Given the description of an element on the screen output the (x, y) to click on. 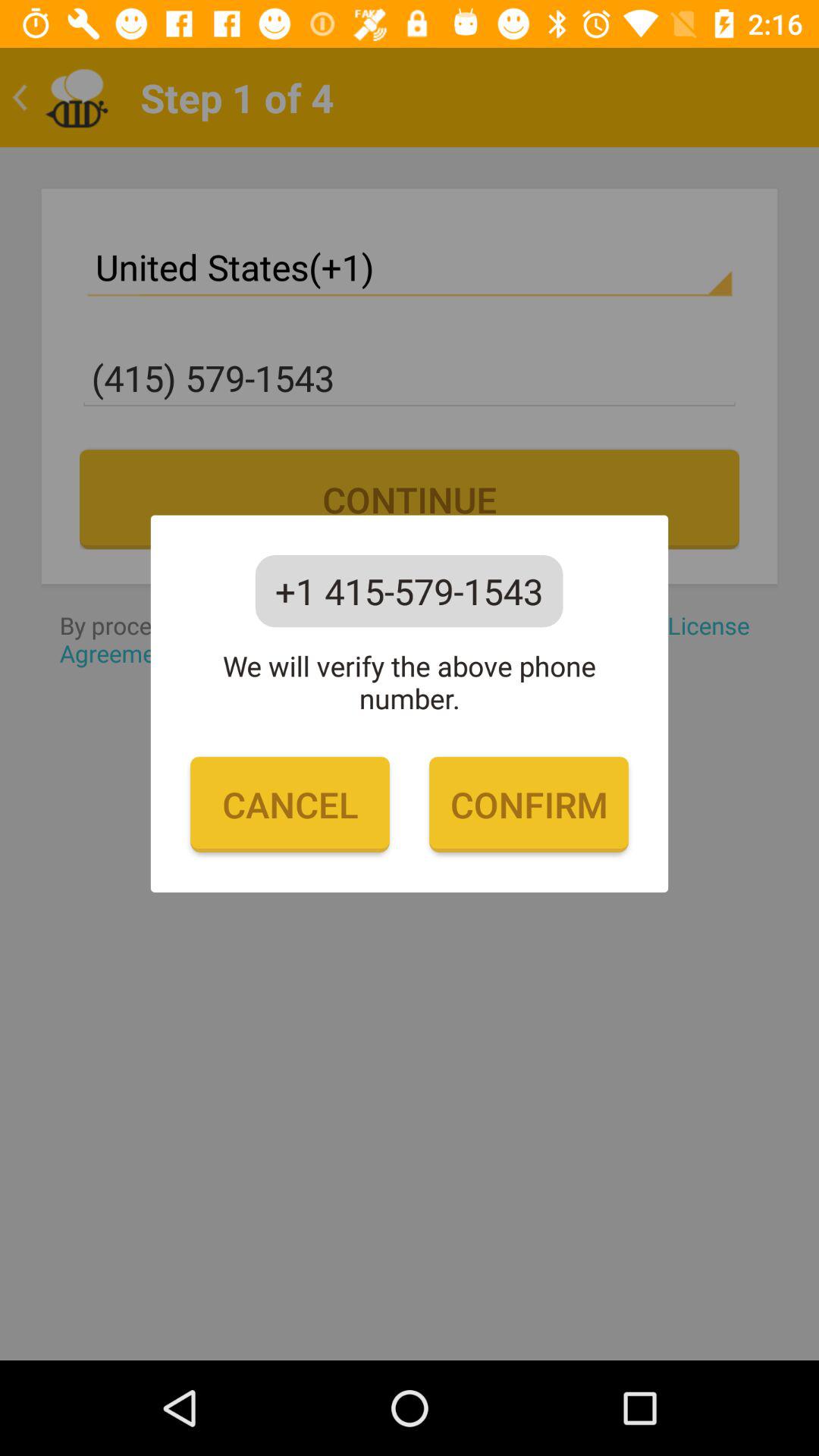
select icon next to the confirm item (289, 804)
